Given the description of an element on the screen output the (x, y) to click on. 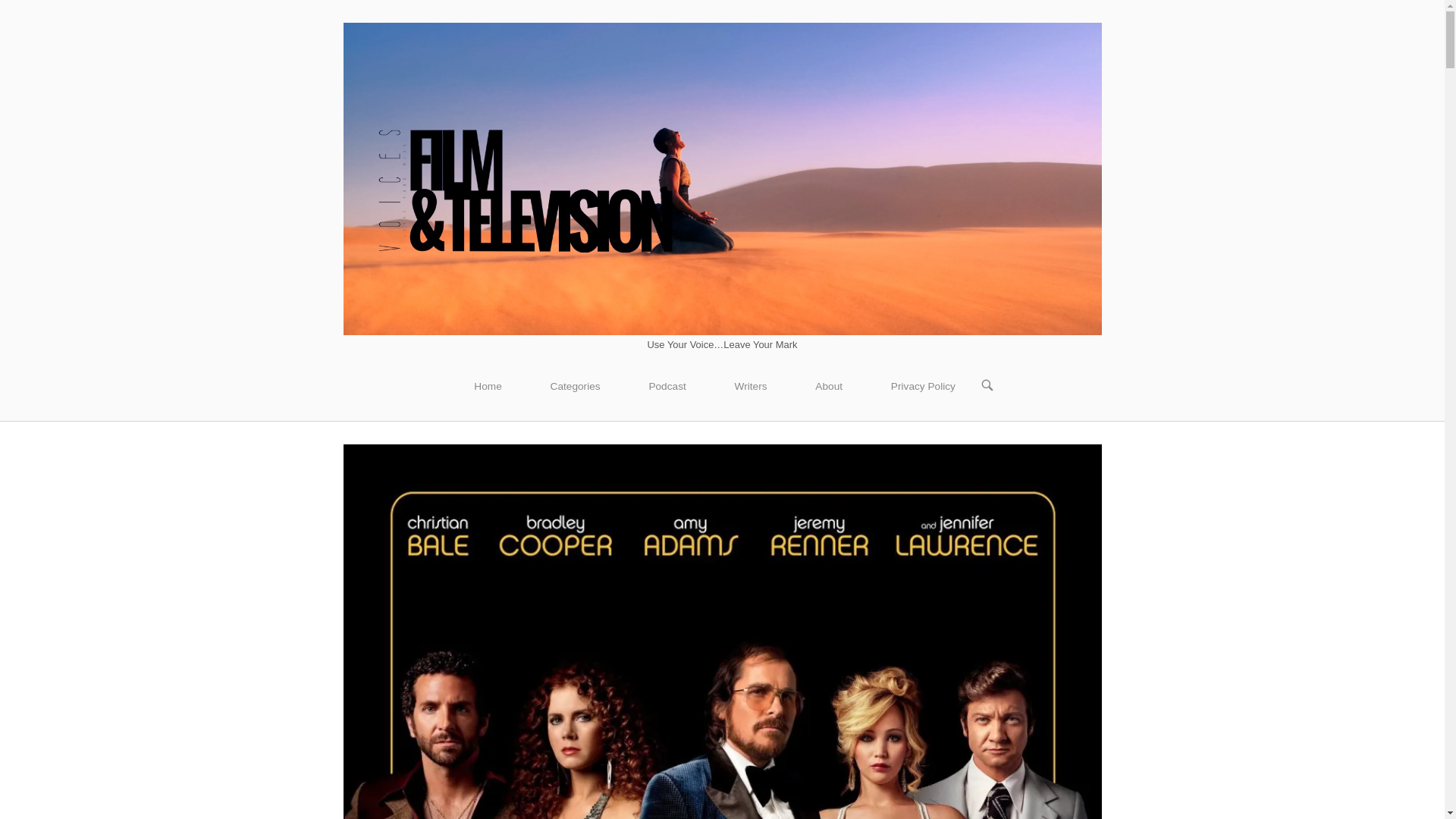
Home (721, 177)
Privacy Policy (922, 386)
Writers (750, 386)
Podcast (666, 386)
Home (487, 386)
Categories (575, 386)
About (828, 386)
